Given the description of an element on the screen output the (x, y) to click on. 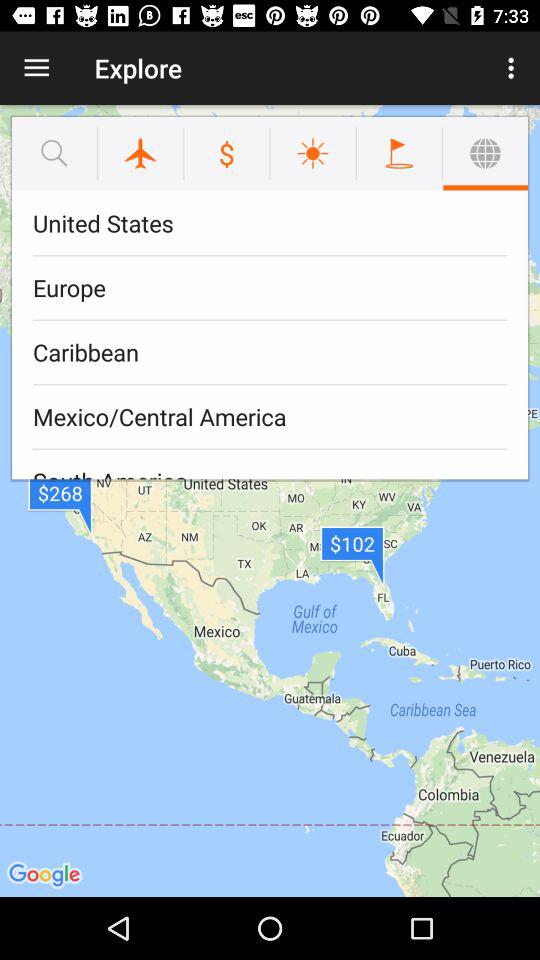
press the south america (270, 464)
